Given the description of an element on the screen output the (x, y) to click on. 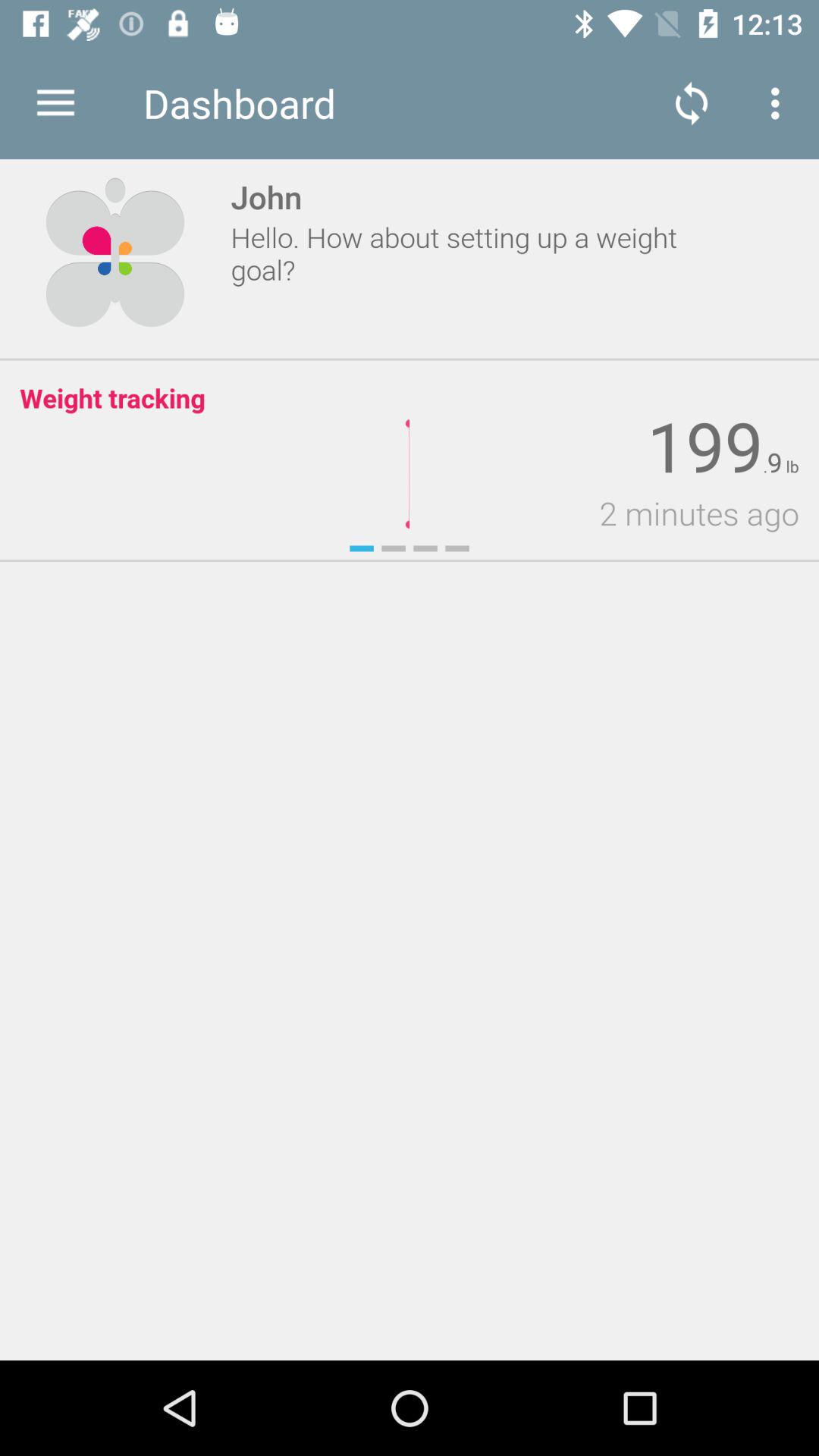
turn on app next to dashboard icon (55, 103)
